Given the description of an element on the screen output the (x, y) to click on. 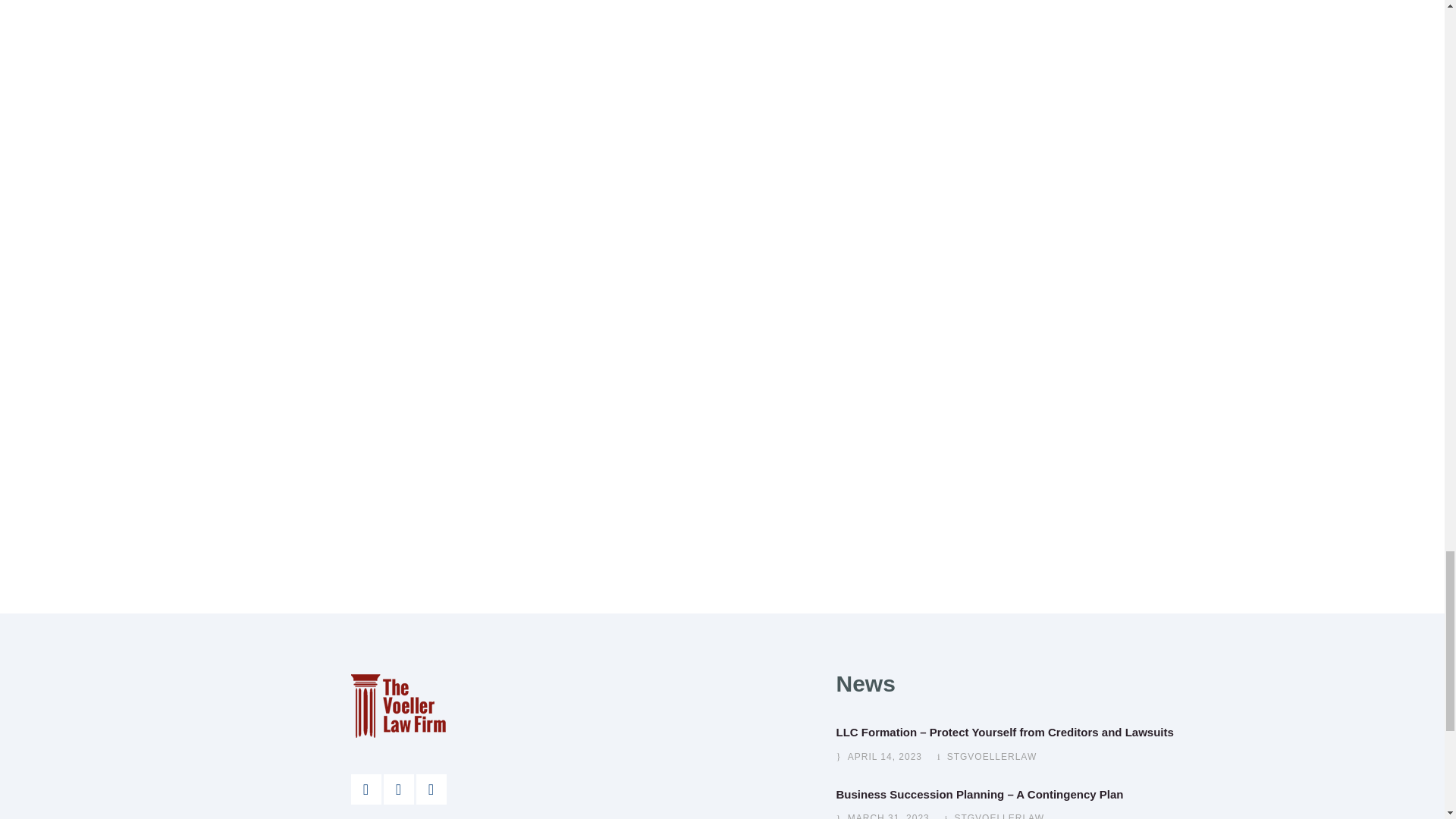
Posts by stgvoellerlaw (991, 756)
linkedin (398, 788)
facebook (365, 788)
twitter (429, 788)
Posts by stgvoellerlaw (998, 816)
